Given the description of an element on the screen output the (x, y) to click on. 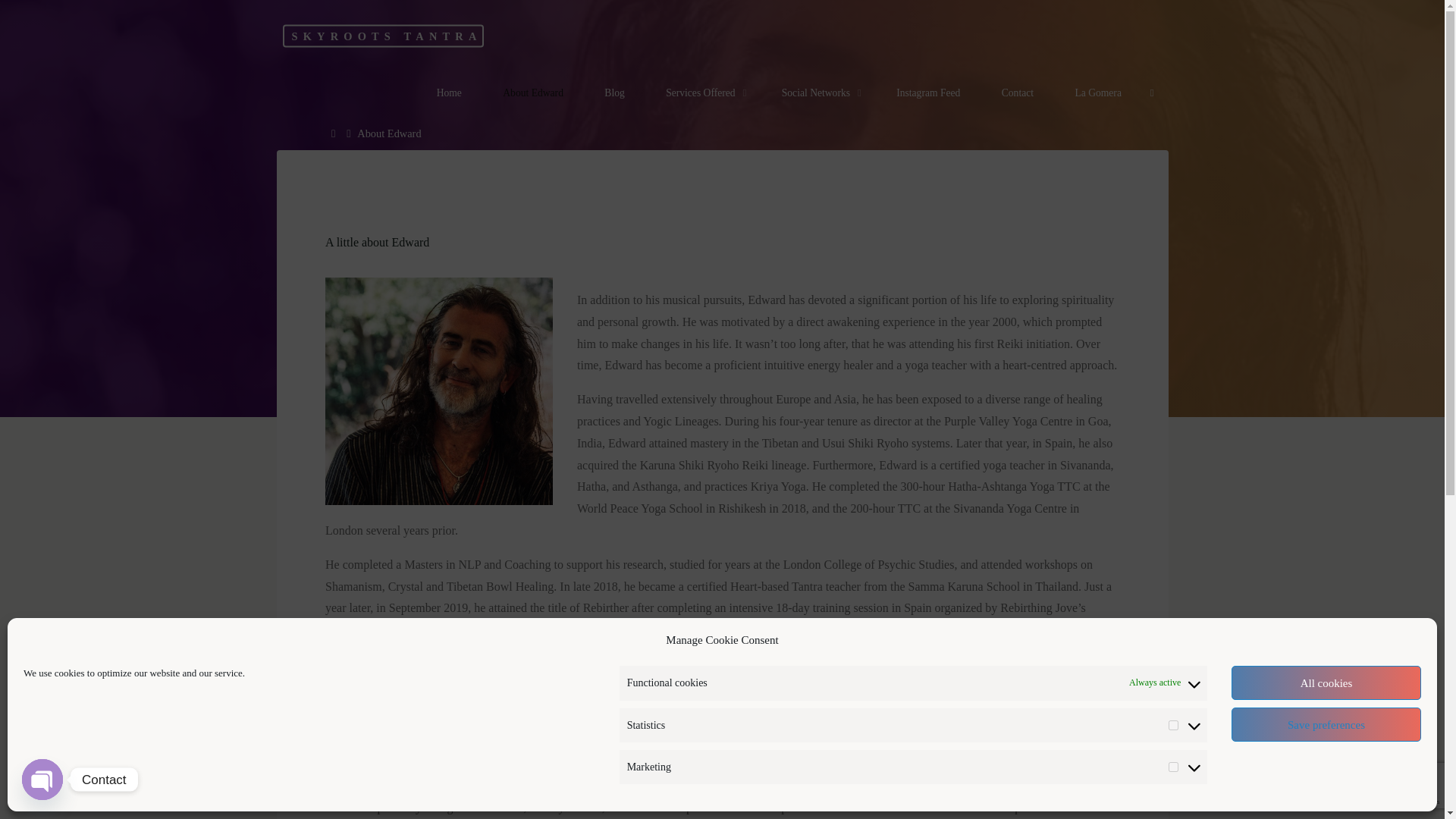
1 (1173, 725)
Home (447, 92)
About Edward (532, 92)
1 (1173, 767)
Blog (614, 92)
Services Offered (703, 92)
A shared exploration into self awareness by Edward (382, 35)
Home (334, 133)
Save preferences (1326, 724)
SKYROOTS TANTRA (382, 35)
All cookies (1326, 682)
